Given the description of an element on the screen output the (x, y) to click on. 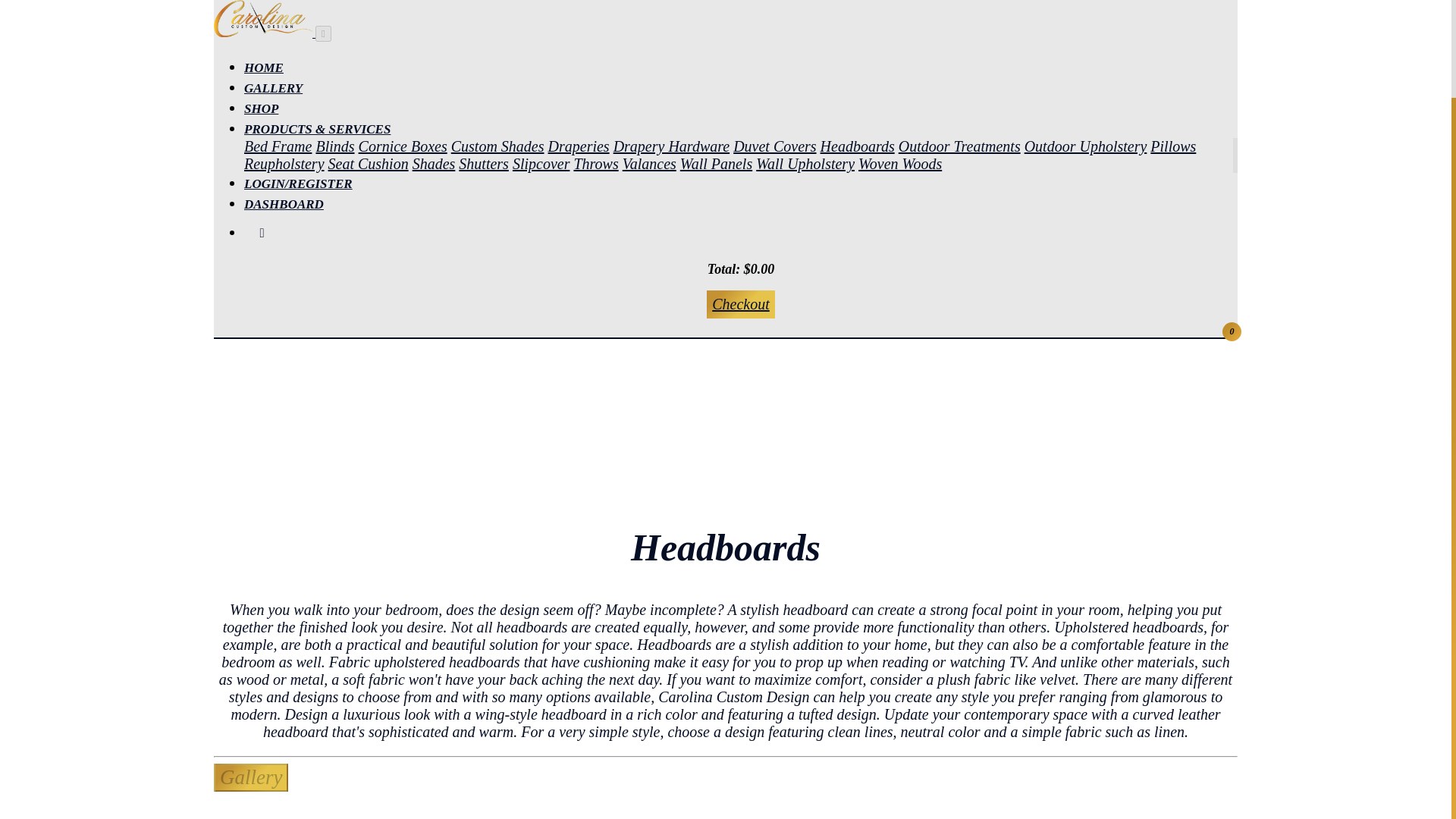
Wall Upholstery (804, 52)
Gallery (251, 779)
Blinds (334, 34)
Outdoor Upholstery (1086, 34)
Wall Panels (715, 52)
Valances (650, 52)
Drapery Hardware (671, 34)
Pillows (1172, 34)
Shutters (483, 52)
Gallery (251, 777)
